Given the description of an element on the screen output the (x, y) to click on. 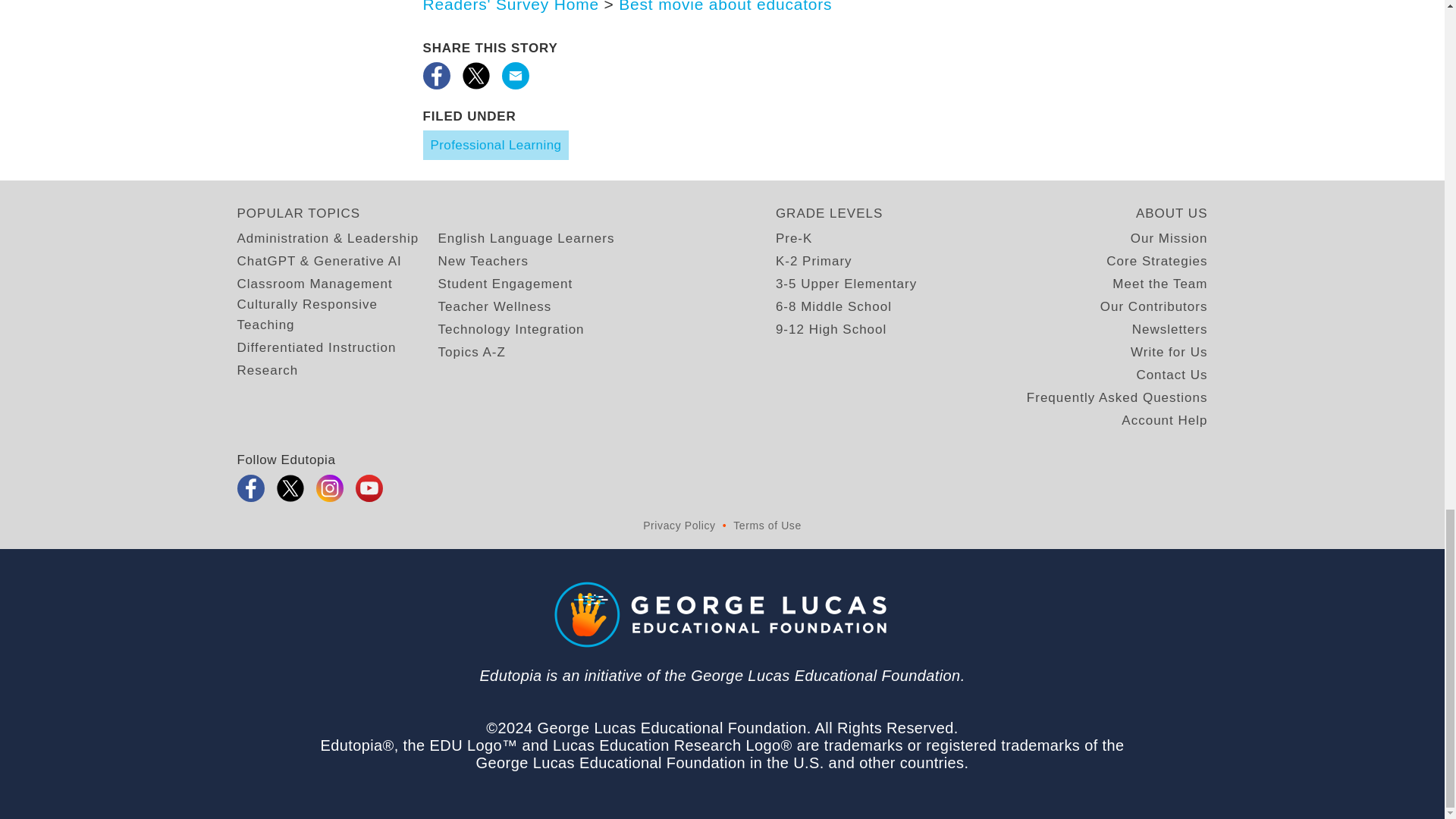
New Teachers (483, 260)
Student Engagement (505, 283)
English Language Learners (526, 238)
Readers' Survey Home (510, 6)
Classroom Management (313, 283)
Differentiated Instruction (315, 347)
Research (266, 370)
Culturally Responsive Teaching (336, 314)
Best movie about educators (724, 6)
Professional Learning (496, 144)
